Given the description of an element on the screen output the (x, y) to click on. 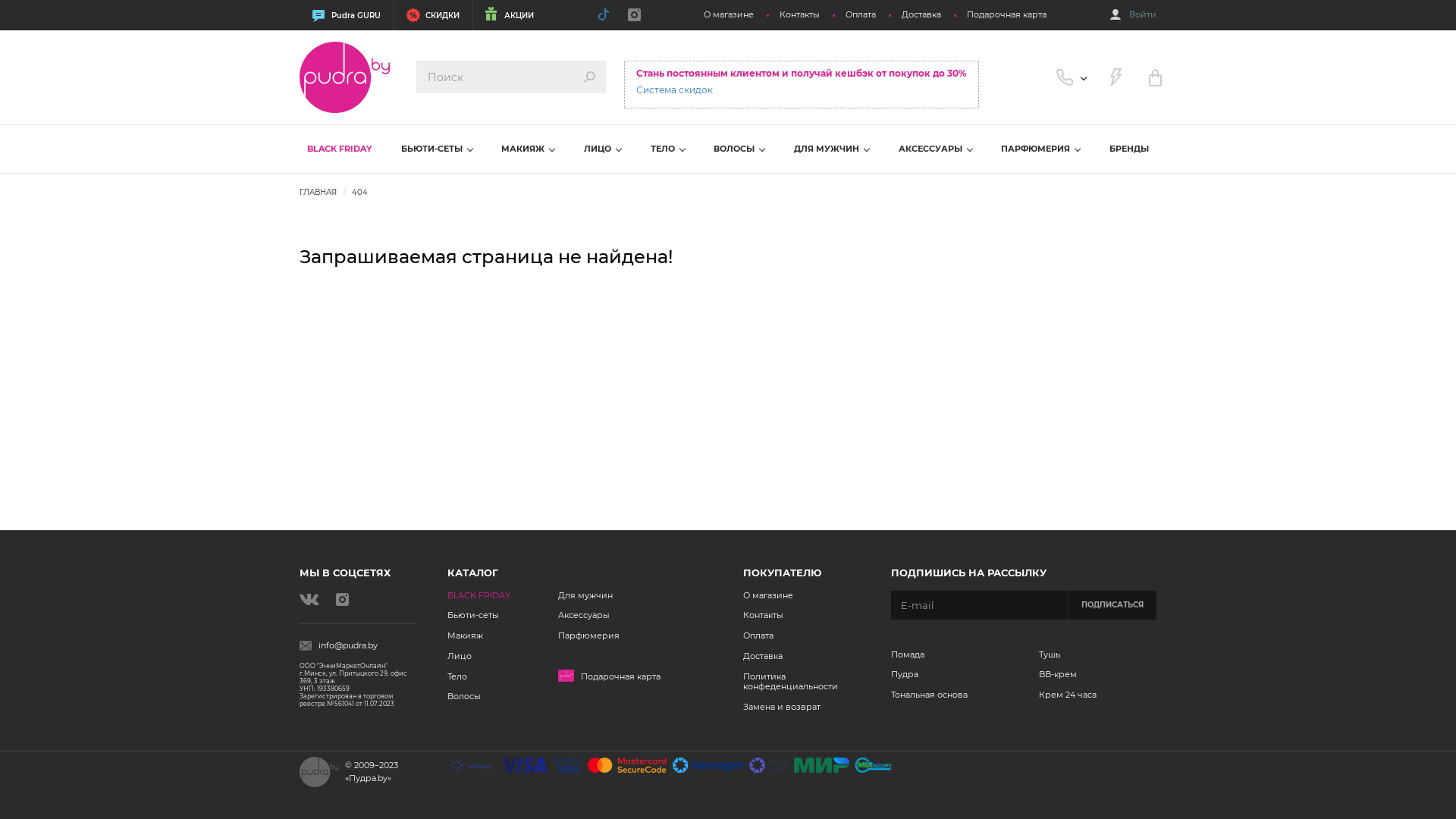
BLACK FRIDAY Element type: text (339, 148)
info@pudra.by Element type: text (358, 645)
Pudra GURU Element type: text (346, 15)
BLACK FRIDAY Element type: text (478, 594)
